Given the description of an element on the screen output the (x, y) to click on. 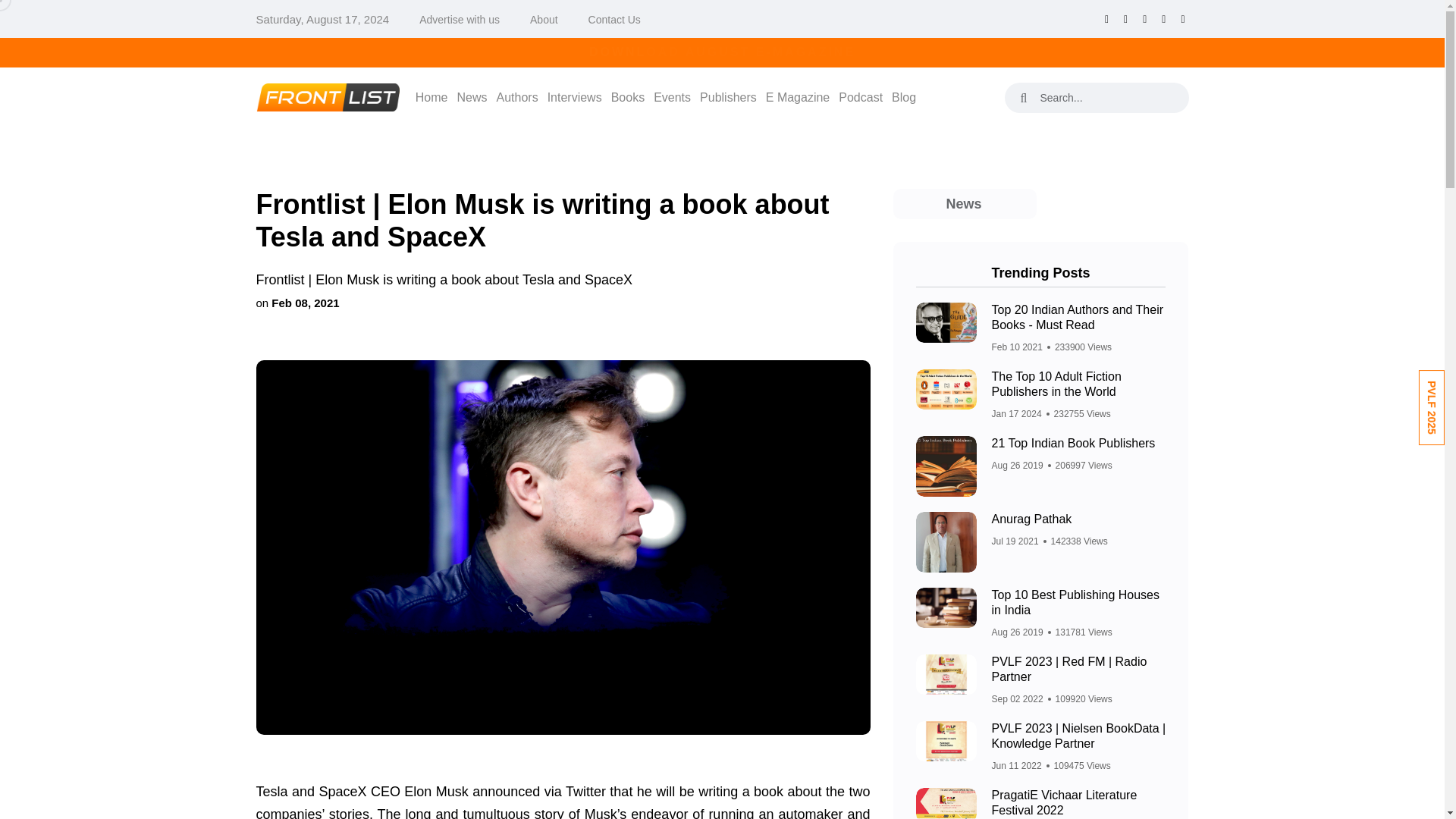
Advertise with us (459, 19)
DOWNLOAD AUGUST E-MAGAZINE (722, 52)
E Magazine (797, 97)
Interviews (574, 97)
Publishers (728, 97)
About (543, 19)
Contact Us (614, 19)
